Given the description of an element on the screen output the (x, y) to click on. 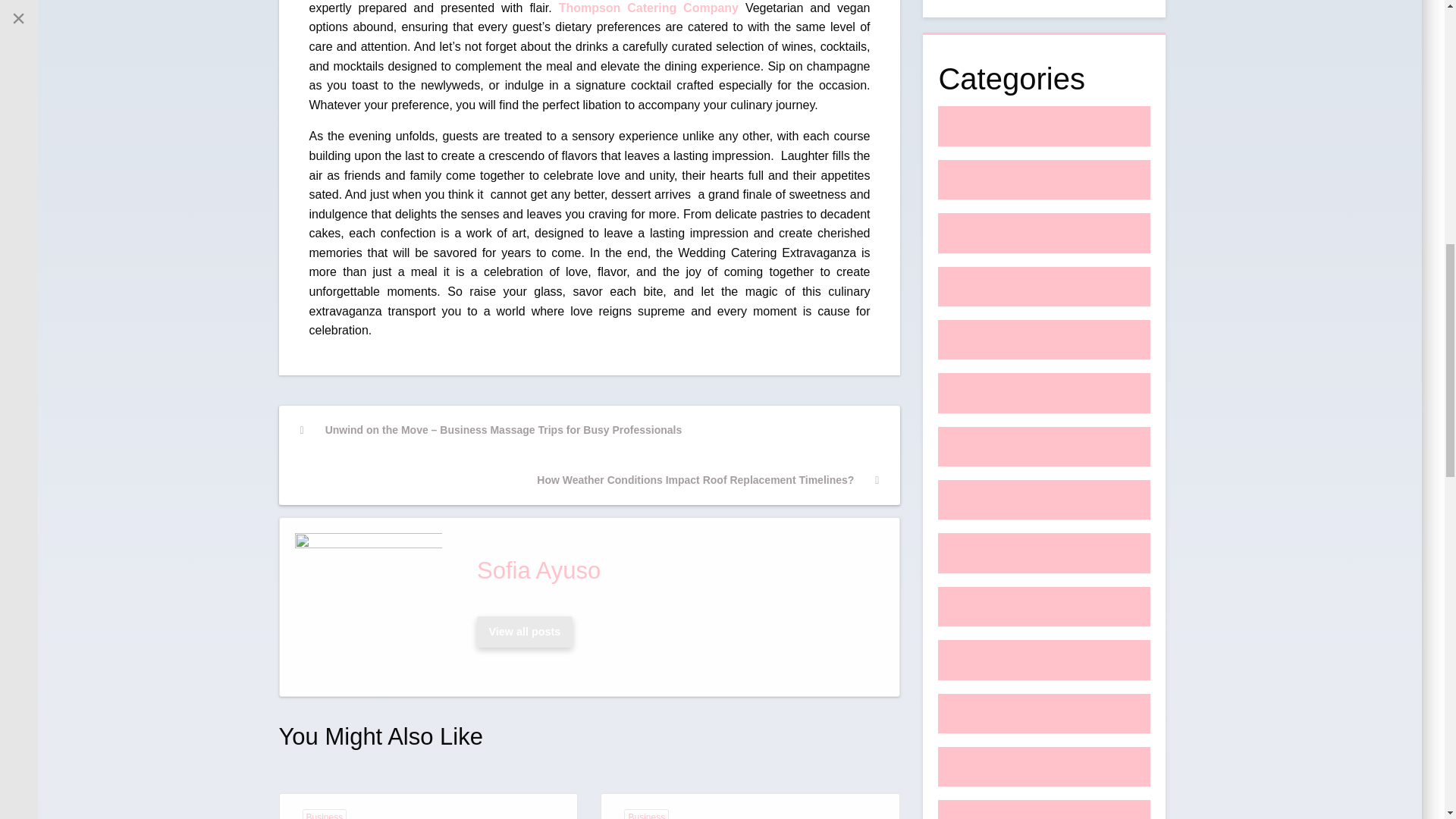
Sofia Ayuso (523, 631)
BEAUTY (1000, 232)
APPLICATION (1013, 126)
Thompson Catering Company (648, 7)
Business (323, 814)
View all posts (524, 631)
View all posts (523, 631)
Sofia Ayuso (674, 570)
Sofia Ayuso (674, 570)
AUTOMOBILE (1013, 179)
